Given the description of an element on the screen output the (x, y) to click on. 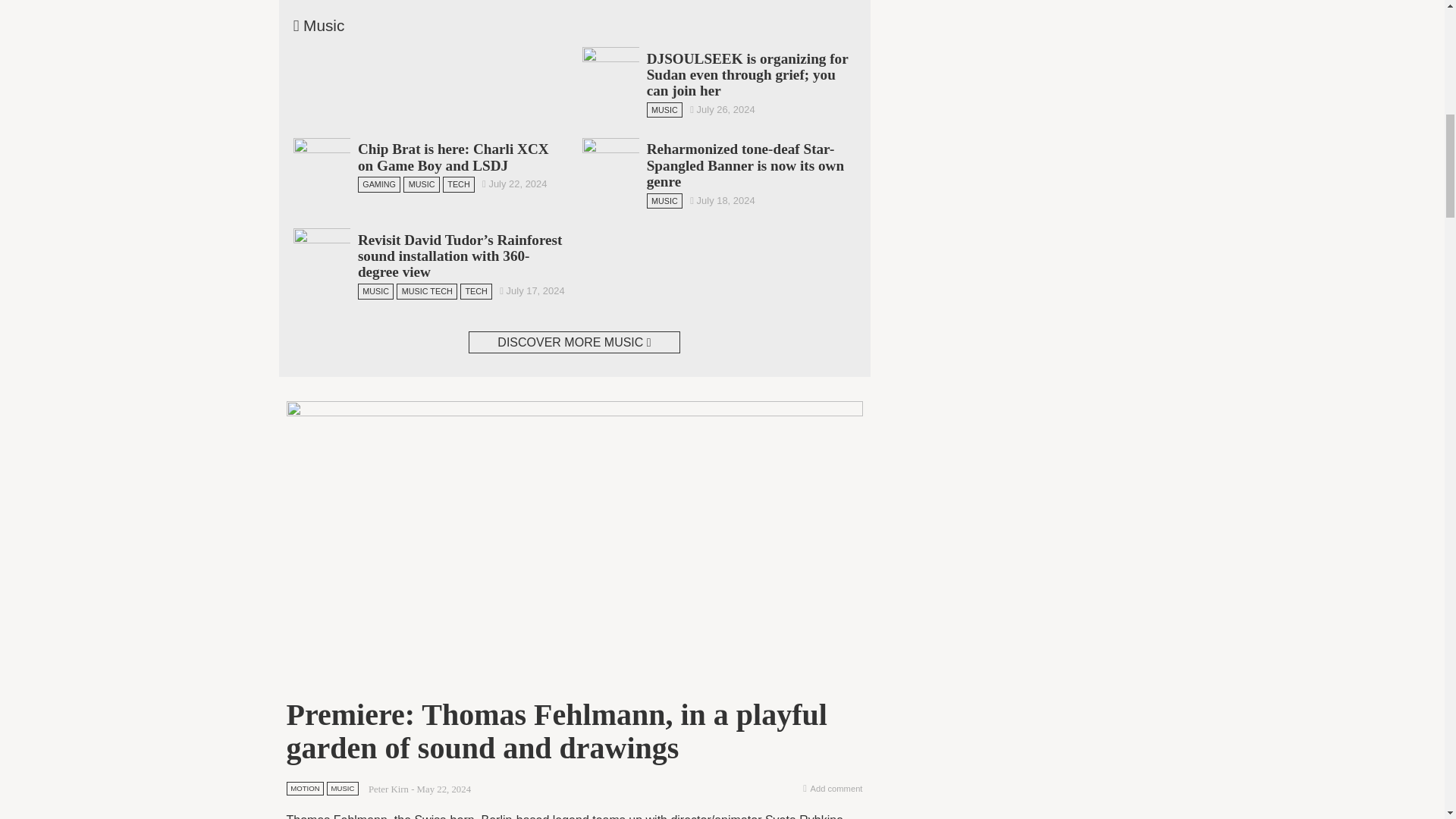
TECH (458, 183)
Chip Brat is here: Charli XCX on Game Boy and LSDJ (453, 156)
GAMING (379, 183)
MUSIC (664, 200)
MUSIC (421, 183)
MUSIC (664, 109)
